Given the description of an element on the screen output the (x, y) to click on. 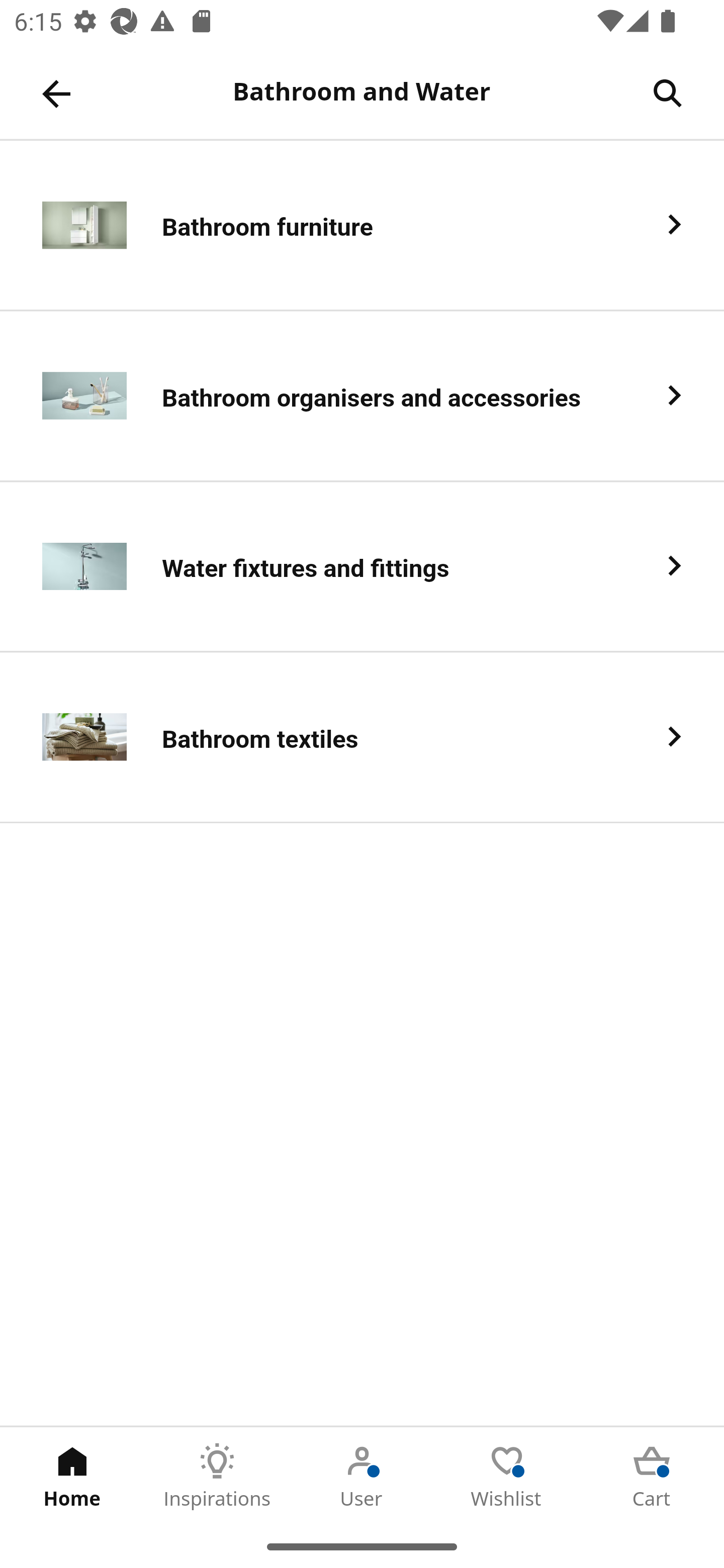
Bathroom furniture (362, 226)
Bathroom organisers and accessories (362, 396)
Water fixtures and fittings (362, 566)
Bathroom textiles (362, 737)
Home
Tab 1 of 5 (72, 1476)
Inspirations
Tab 2 of 5 (216, 1476)
User
Tab 3 of 5 (361, 1476)
Wishlist
Tab 4 of 5 (506, 1476)
Cart
Tab 5 of 5 (651, 1476)
